Given the description of an element on the screen output the (x, y) to click on. 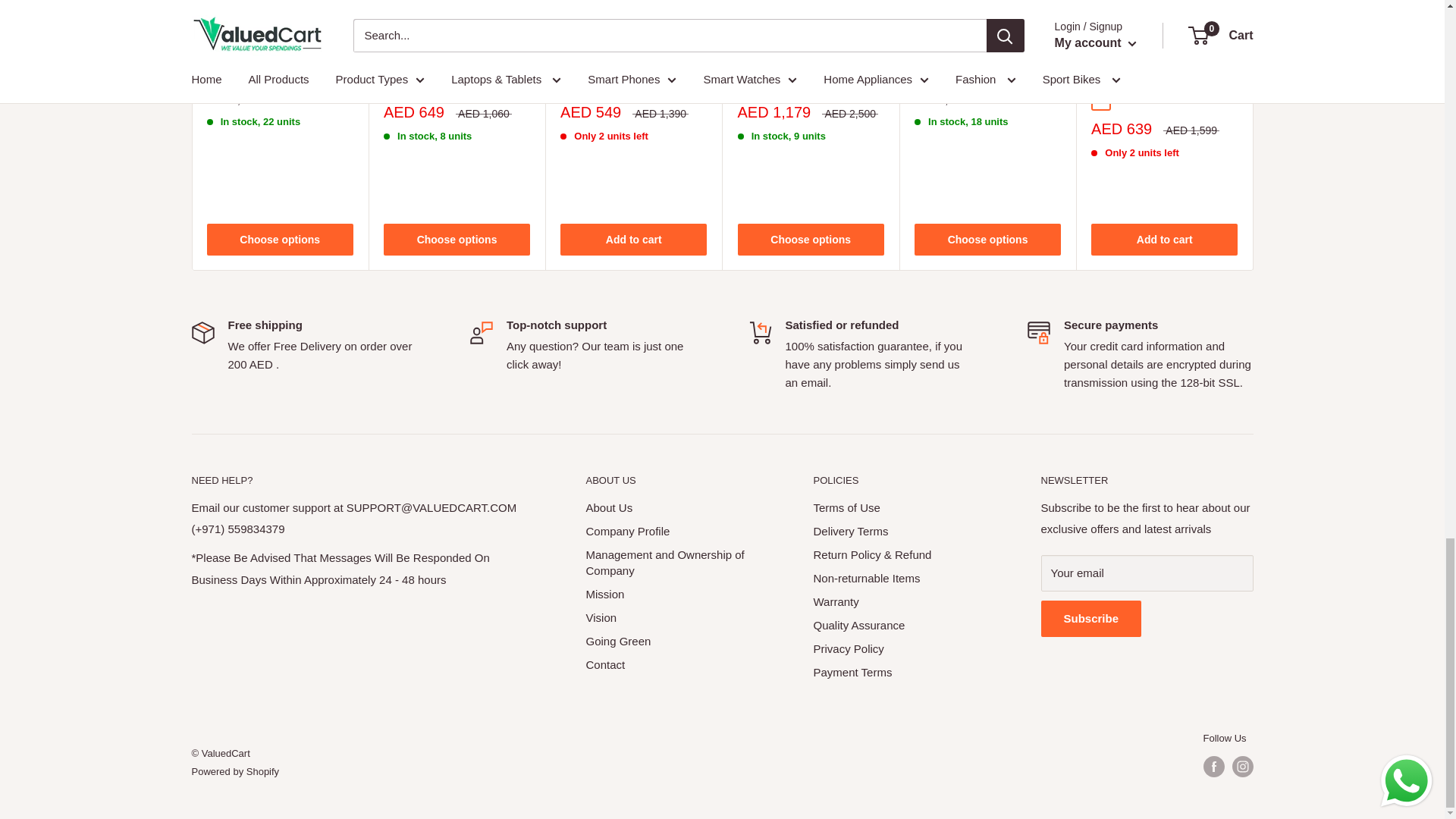
Deep Purple (284, 51)
Space Black (215, 51)
Midnight Black (438, 83)
Silver (946, 51)
Cosmic Gray (769, 83)
Gold (969, 51)
Gold (238, 51)
Space Gray Aluminum (1101, 100)
Silver (260, 51)
Cloud White (792, 83)
Lavender Purple (416, 83)
Blue (991, 51)
Ocean Blue (393, 83)
Graphite (924, 51)
Cosmic Black (746, 83)
